Given the description of an element on the screen output the (x, y) to click on. 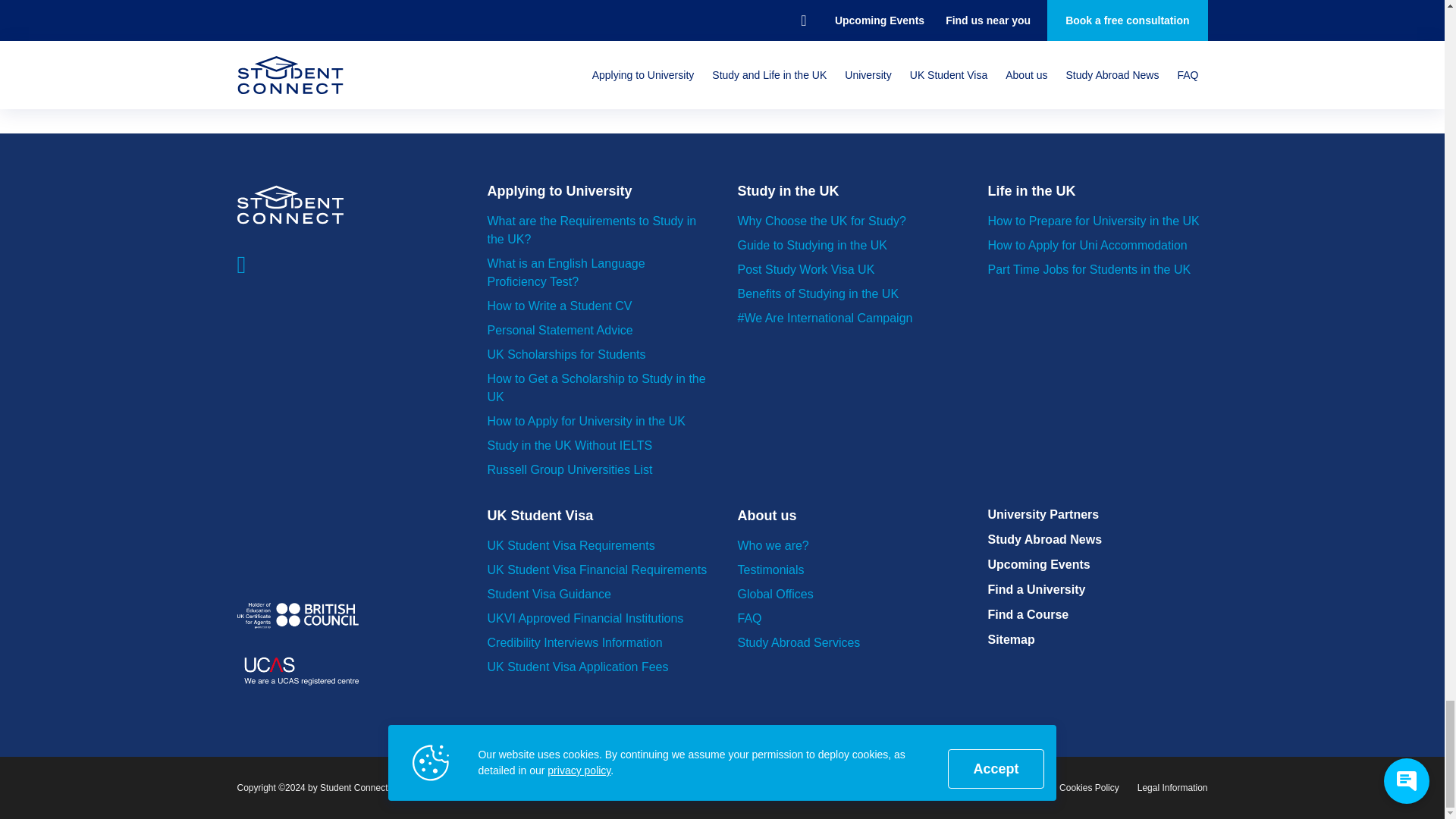
10 (332, 79)
11 (527, 79)
